Given the description of an element on the screen output the (x, y) to click on. 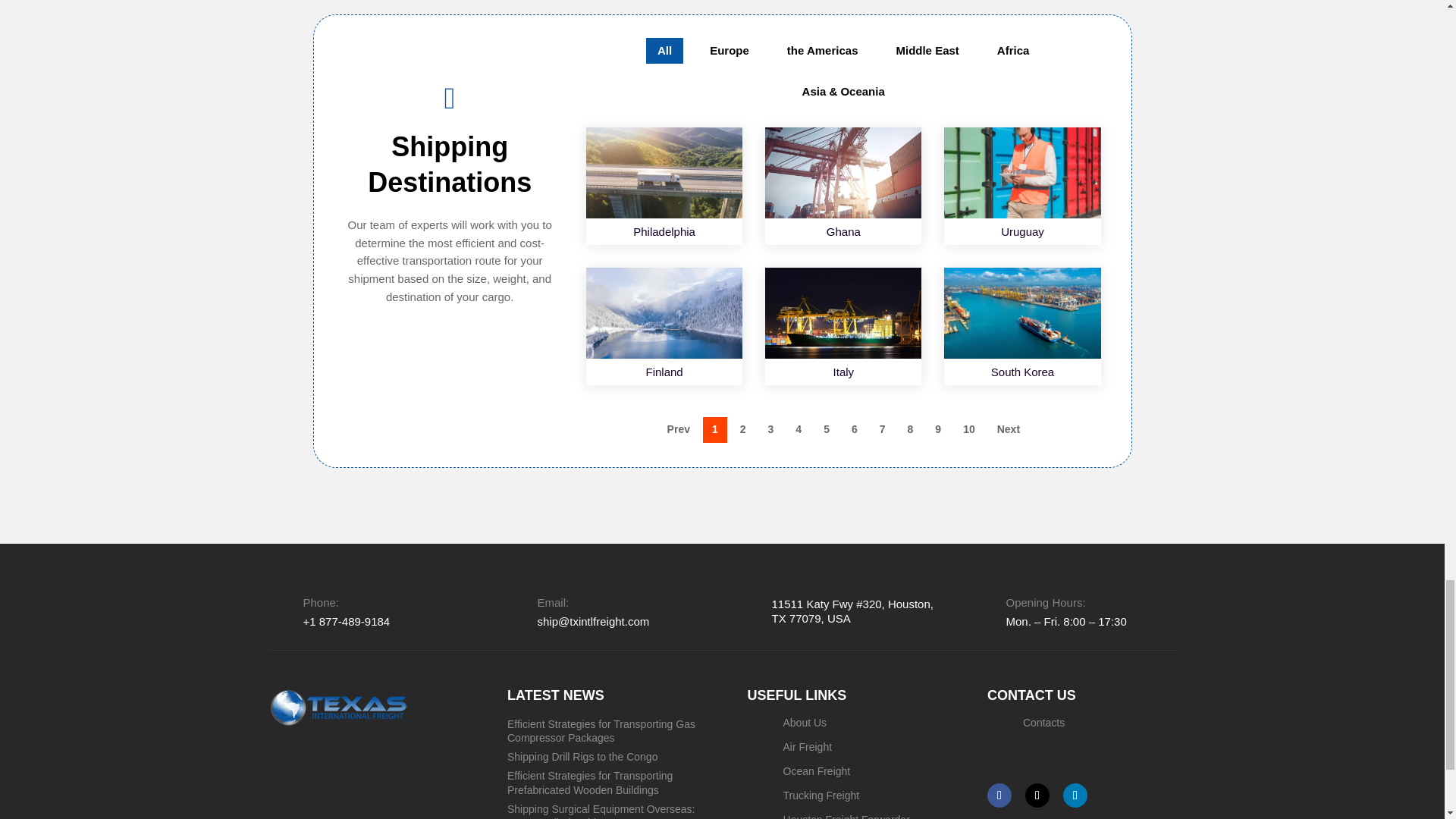
Follow on Facebook (999, 794)
